Given the description of an element on the screen output the (x, y) to click on. 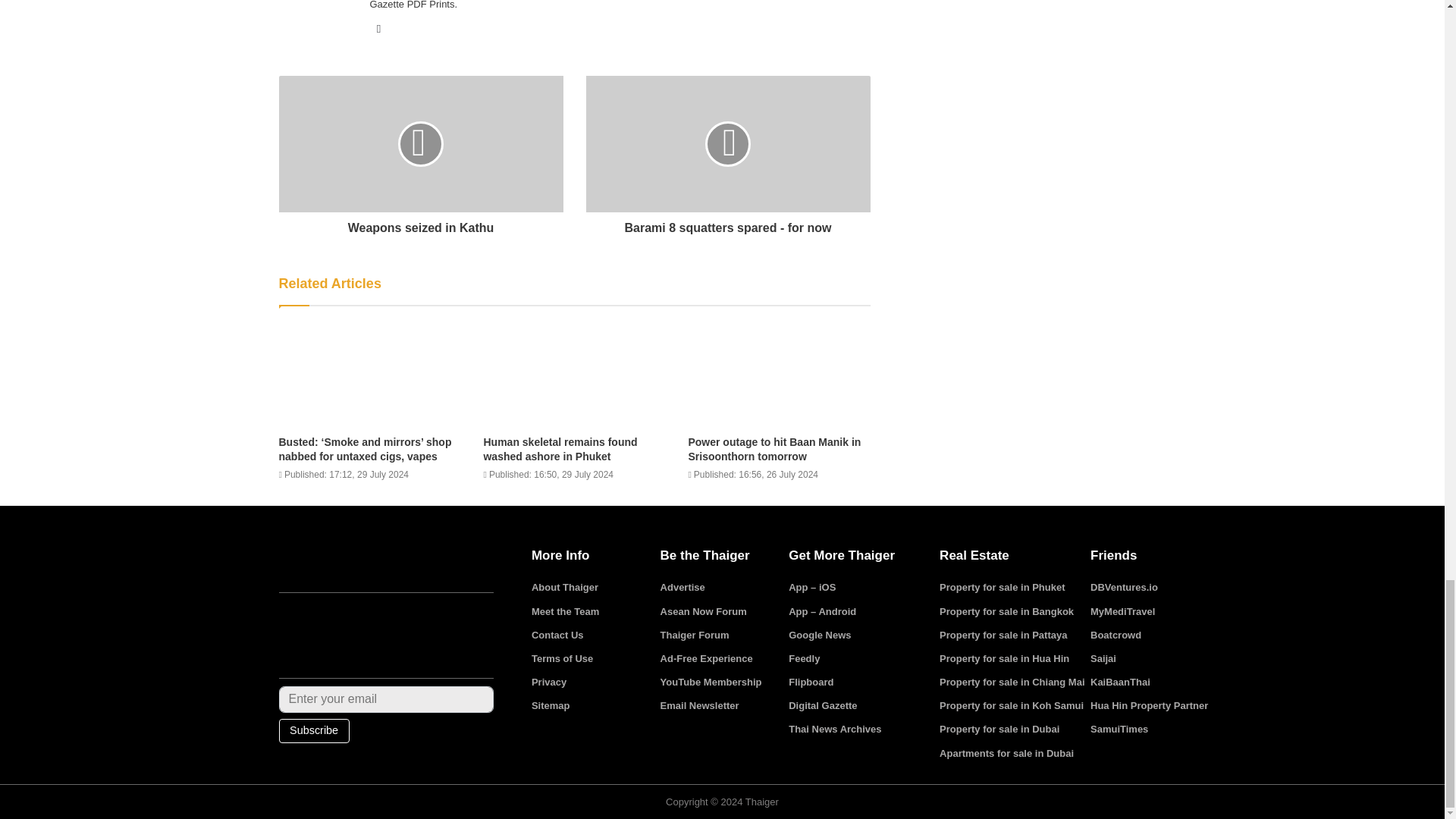
Subscribe (314, 730)
